Given the description of an element on the screen output the (x, y) to click on. 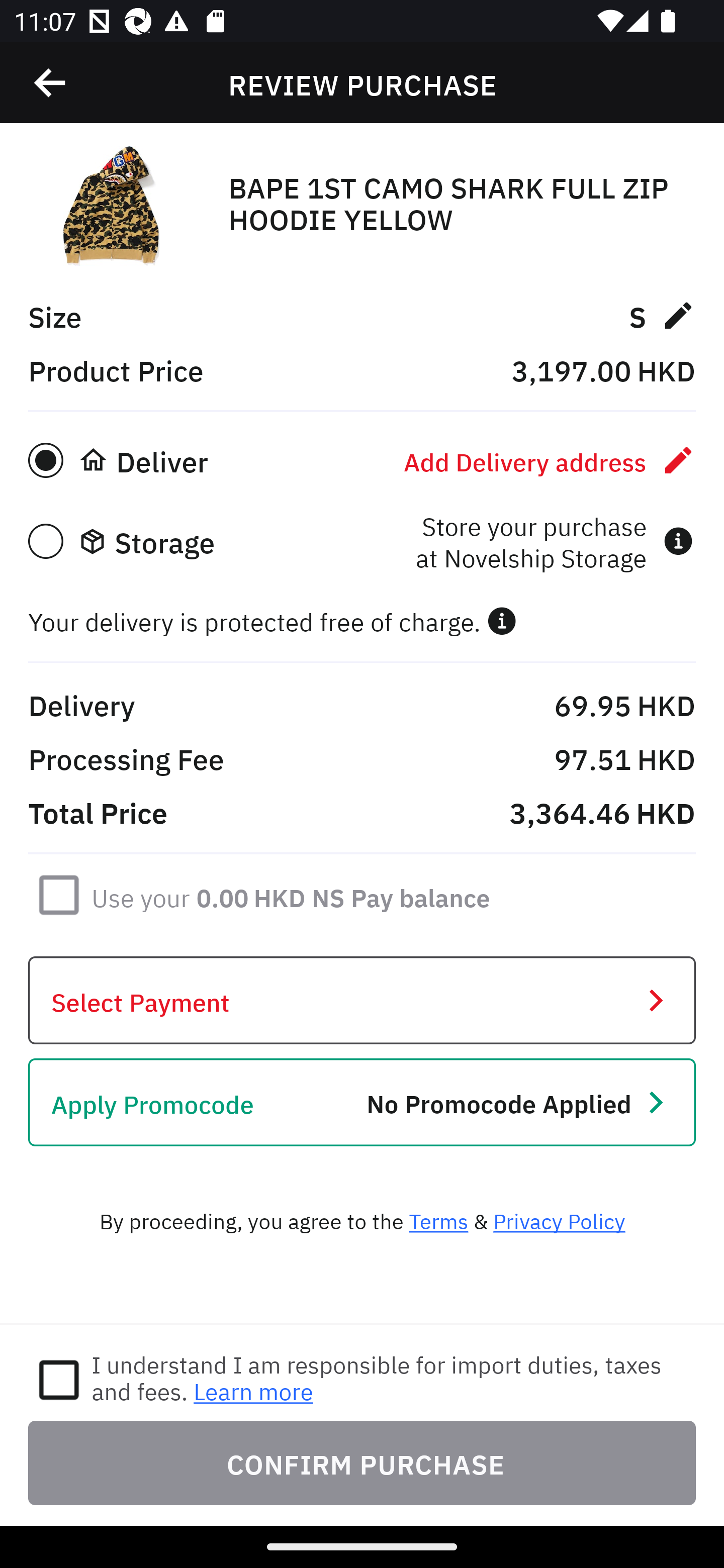
 (50, 83)
S 󰏫 (662, 314)
󰚡 Deliver Add Delivery address 󰏫 (361, 459)
Add Delivery address 󰏫 (549, 460)
Store your purchase
at Novelship Storage  (554, 540)
 (501, 620)
Use your 0.00 HKD NS Pay balance (290, 894)
Select Payment  (361, 1000)
Apply Promocode No Promocode Applied  (361, 1102)
 CONFIRM PURCHASE (361, 1462)
